Given the description of an element on the screen output the (x, y) to click on. 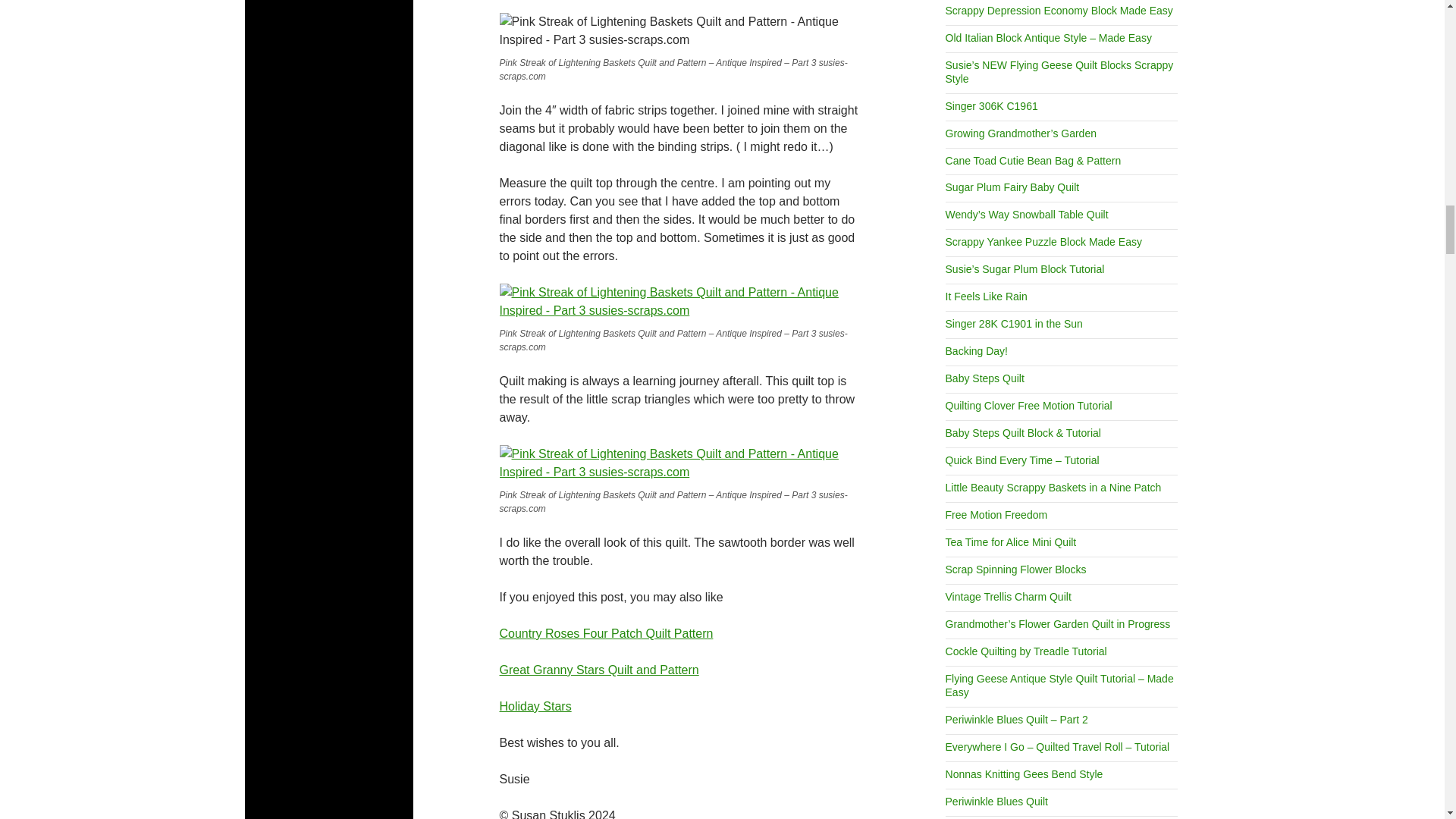
Holiday Stars (534, 706)
Country Roses Four Patch Quilt Pattern (606, 633)
Great Granny Stars Quilt and Pattern (598, 669)
